Given the description of an element on the screen output the (x, y) to click on. 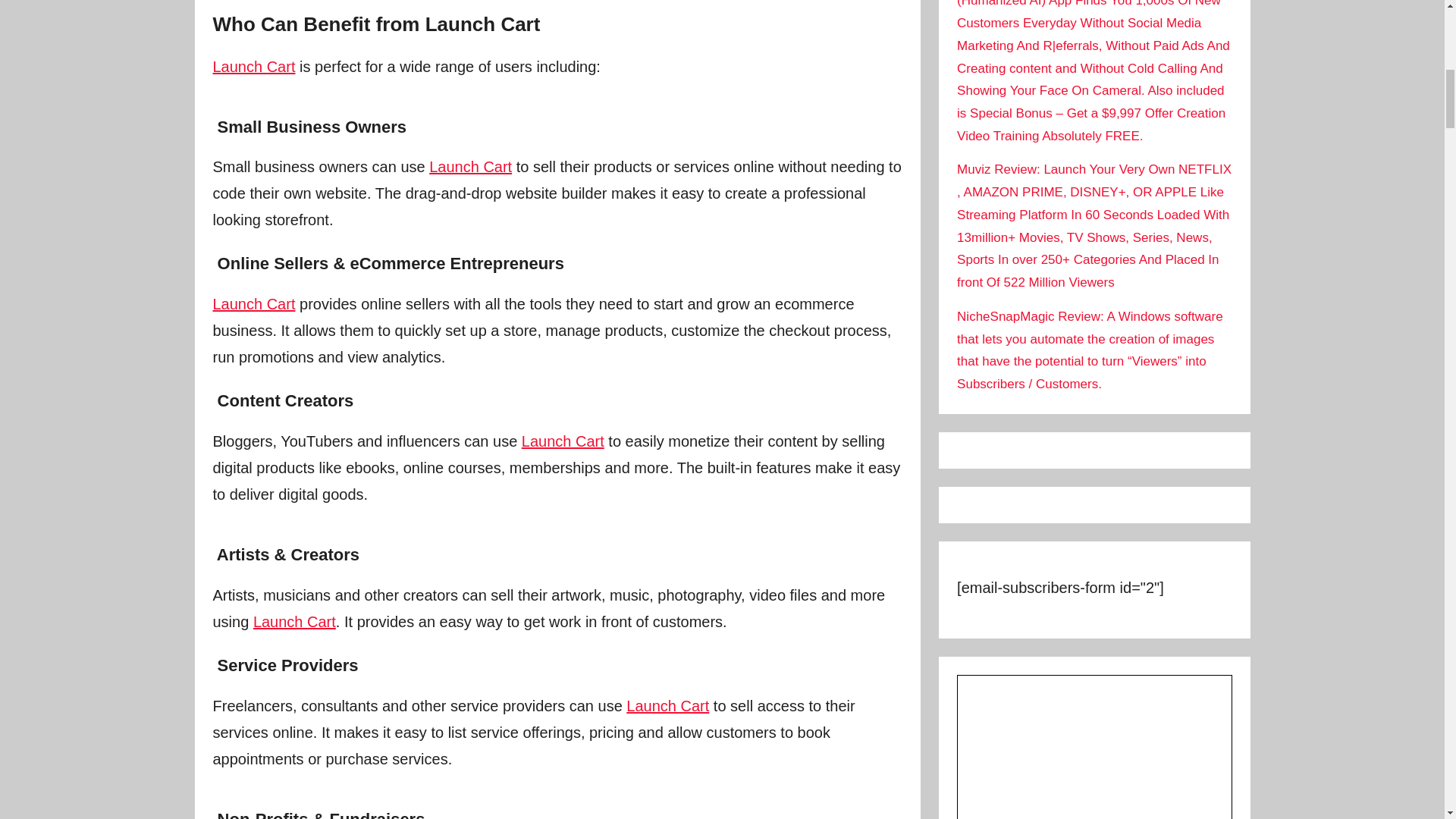
Launch Cart (253, 303)
Launch Cart (562, 441)
Launch Cart (294, 621)
Launch Cart (253, 66)
Launch Cart (470, 166)
Launch Cart (667, 705)
